Given the description of an element on the screen output the (x, y) to click on. 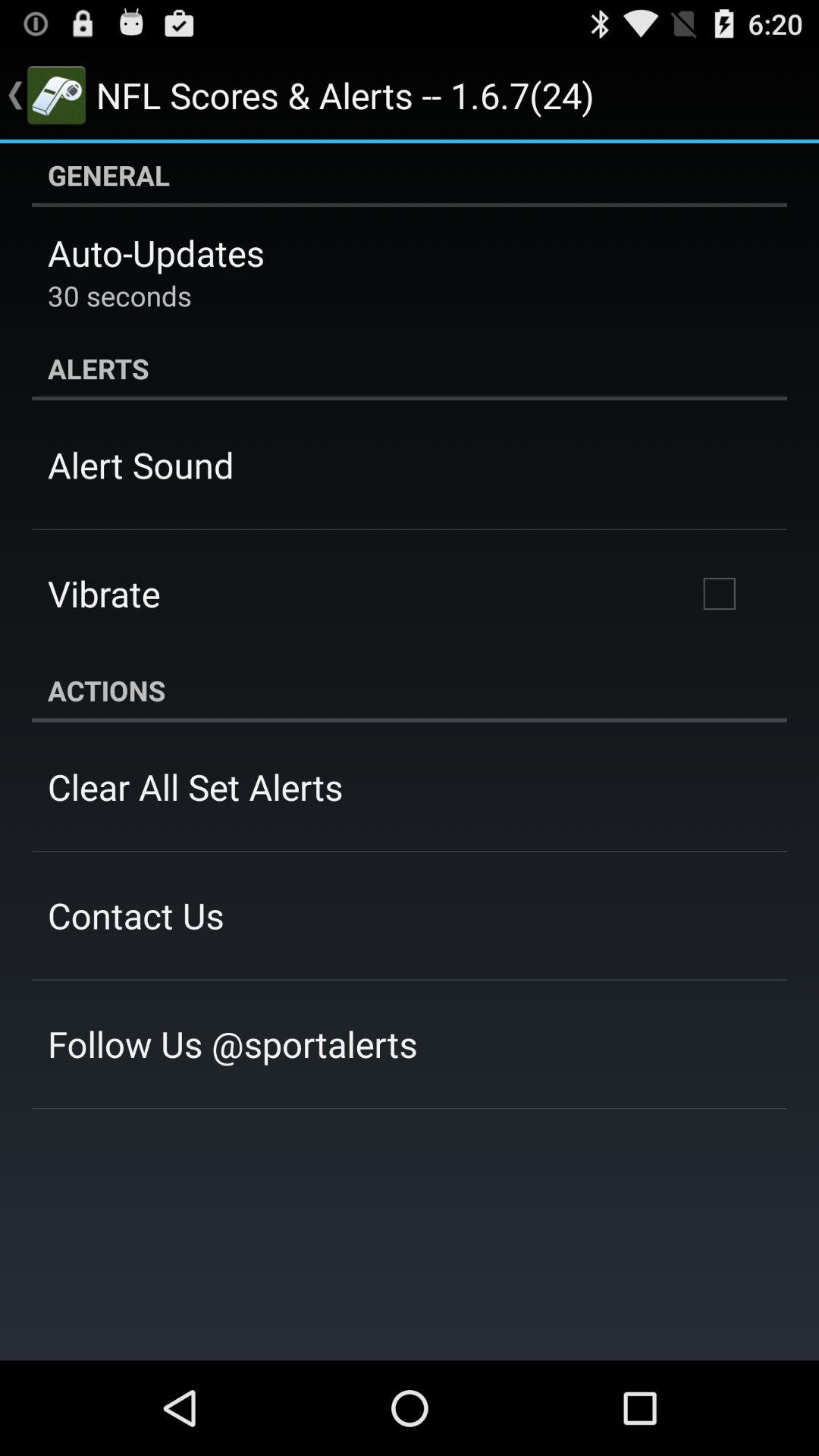
turn on item below the alerts (719, 593)
